Given the description of an element on the screen output the (x, y) to click on. 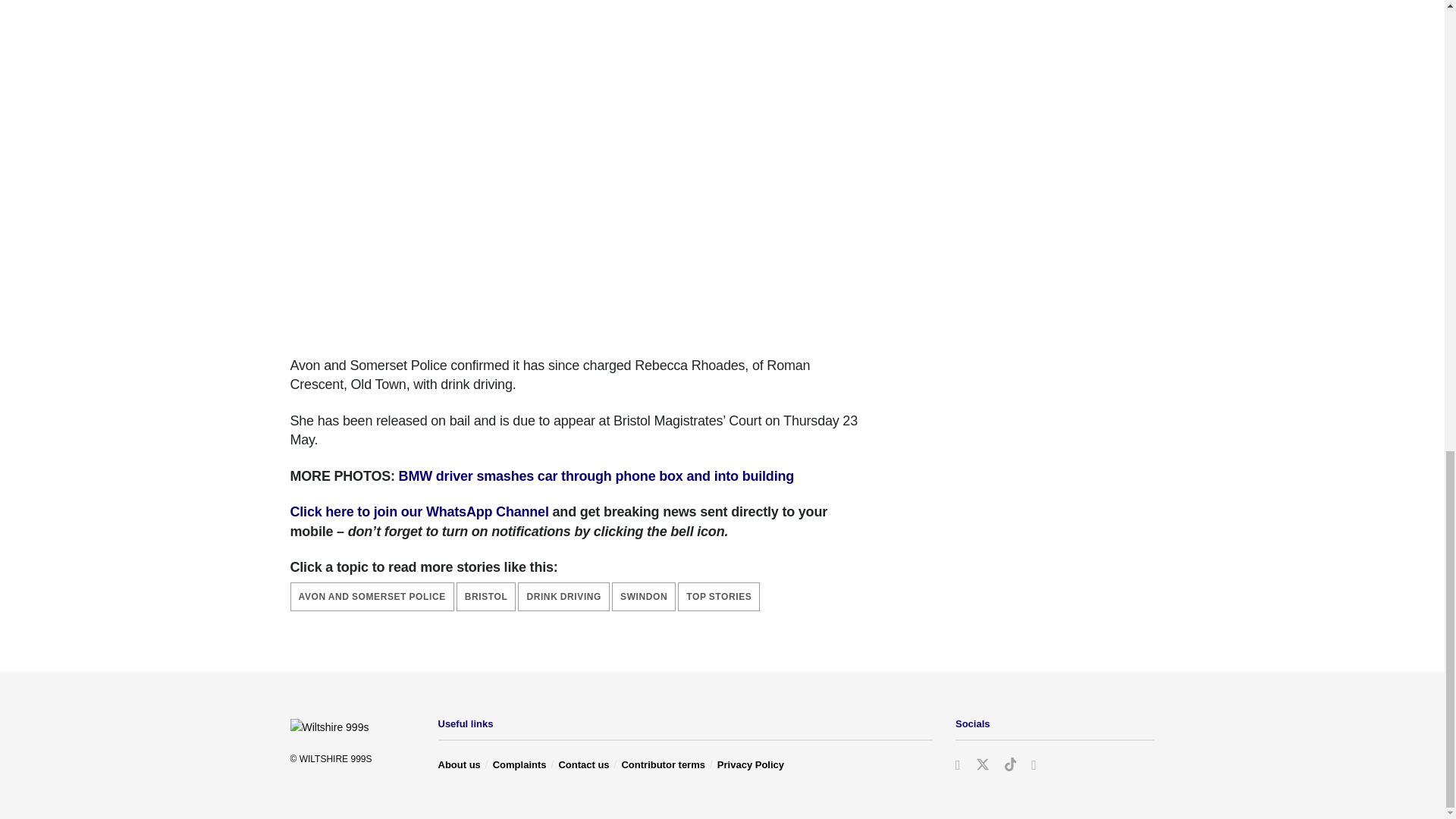
DRINK DRIVING (564, 596)
SWINDON (643, 596)
Click here to join our WhatsApp Channel (418, 511)
TOP STORIES (719, 596)
BMW driver smashes car through phone box and into building (595, 476)
BRISTOL (486, 596)
AVON AND SOMERSET POLICE (370, 596)
